Given the description of an element on the screen output the (x, y) to click on. 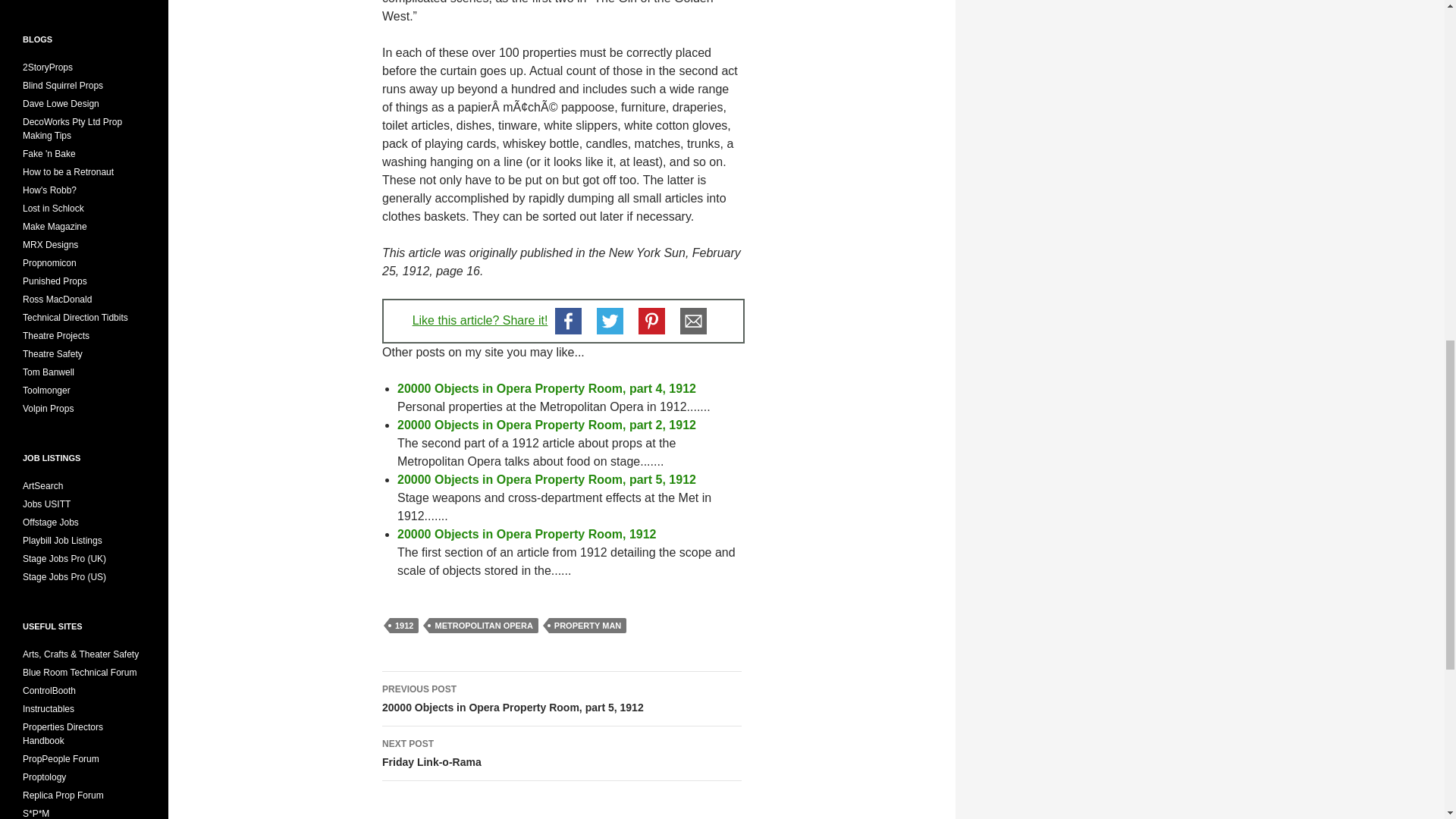
1912 (404, 625)
20000 Objects in Opera Property Room, part 4, 1912 (546, 388)
pinterest (561, 753)
Like this article? Share it! (651, 321)
METROPOLITAN OPERA (480, 319)
Prop design and building for low-budget TV and film (483, 625)
email (61, 103)
facebook (693, 321)
20000 Objects in Opera Property Room, part 2, 1912 (568, 321)
20000 Objects in Opera Property Room, part 5, 1912 (546, 424)
20000 Objects in Opera Property Room, 1912 (546, 479)
